Given the description of an element on the screen output the (x, y) to click on. 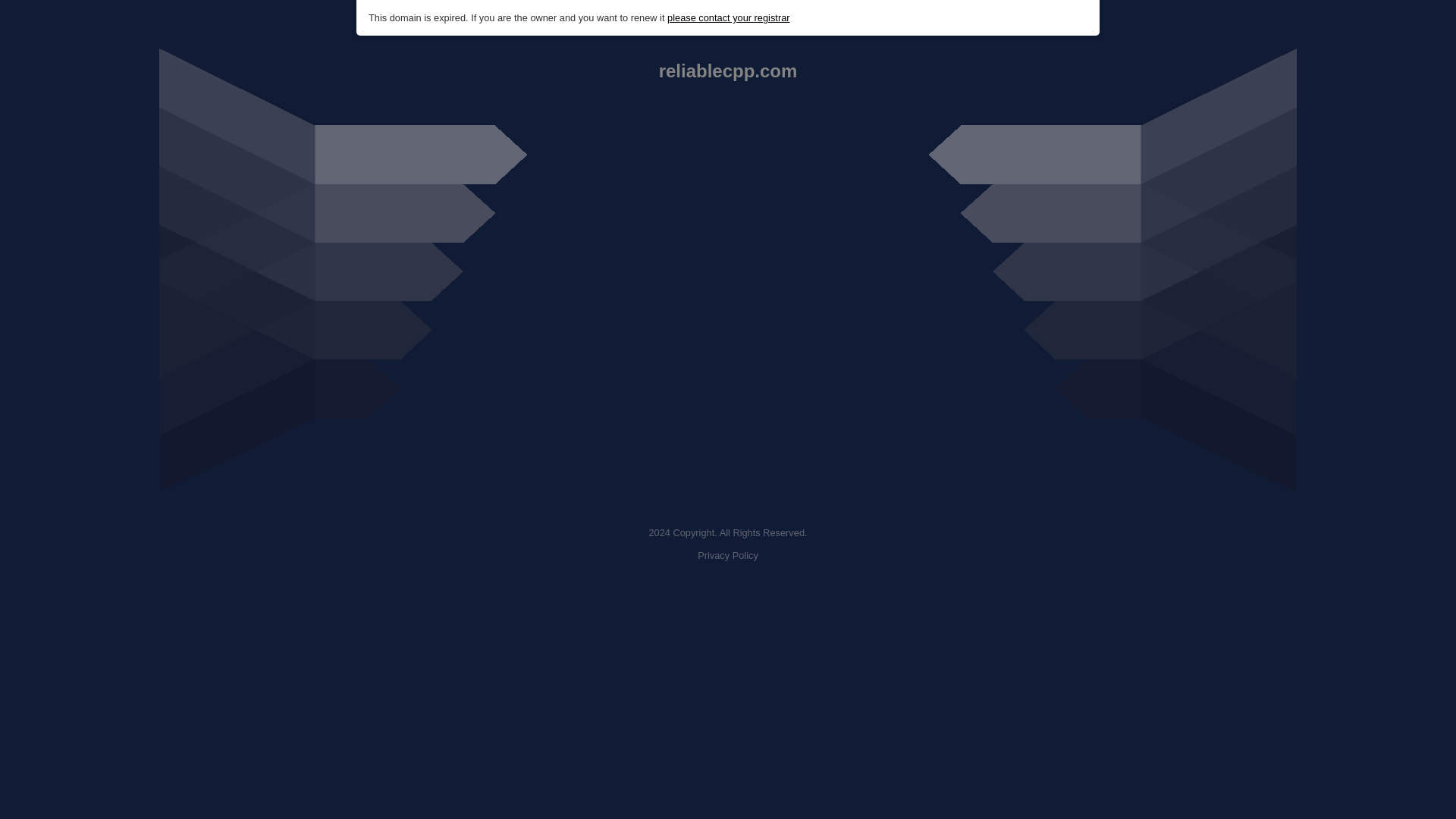
Privacy Policy (727, 555)
please contact your registrar (727, 17)
